Given the description of an element on the screen output the (x, y) to click on. 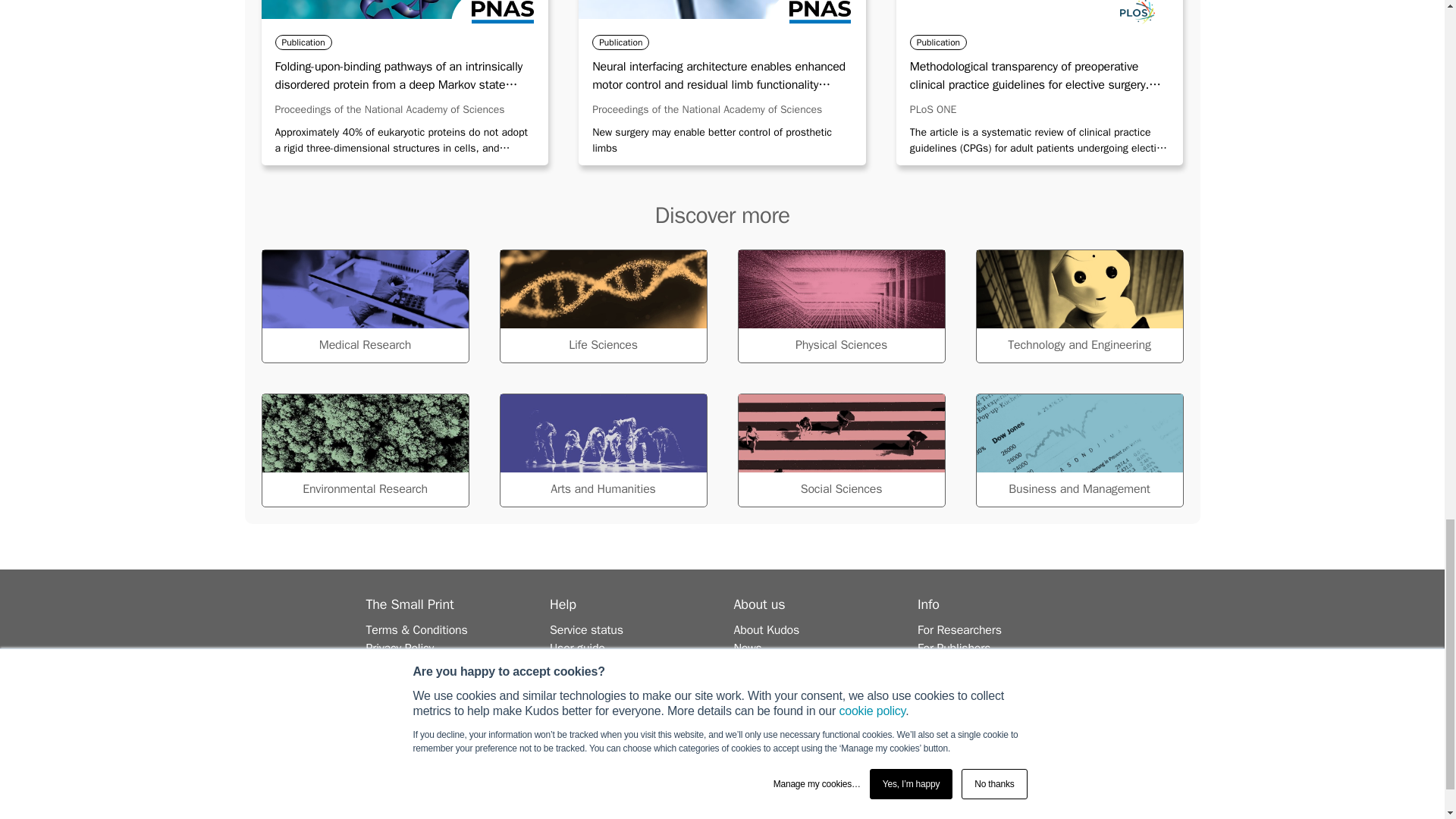
Service status (586, 630)
Careers (753, 666)
Technology and Engineering (1078, 306)
Environmental Research (364, 449)
About Kudos (766, 630)
PLoS ONE (933, 109)
Proceedings of the National Academy of Sciences (707, 109)
Social Sciences (840, 449)
